Given the description of an element on the screen output the (x, y) to click on. 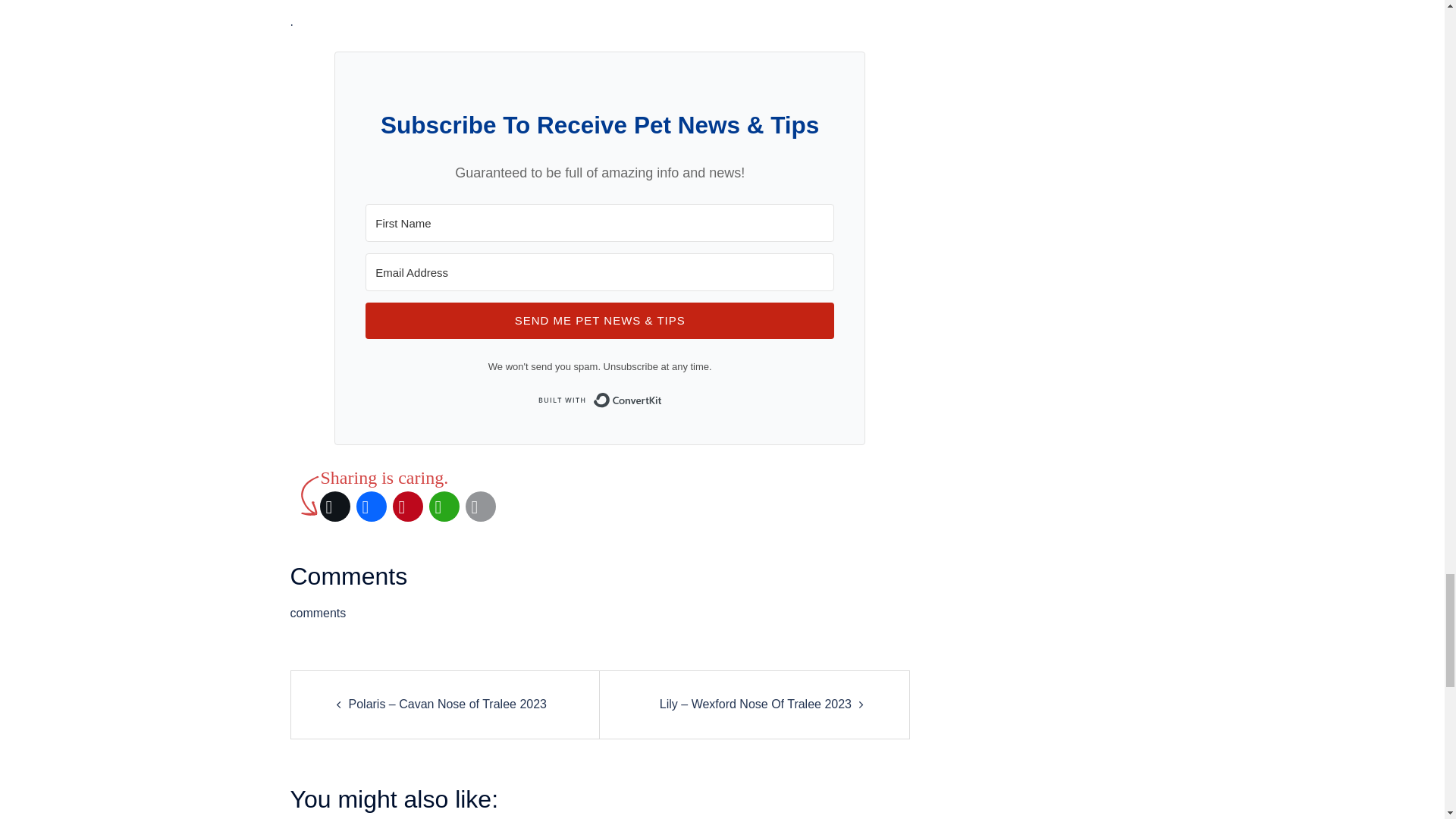
WhatsApp (444, 506)
Pinterest (408, 506)
Email This (481, 506)
Facebook (371, 506)
